Given the description of an element on the screen output the (x, y) to click on. 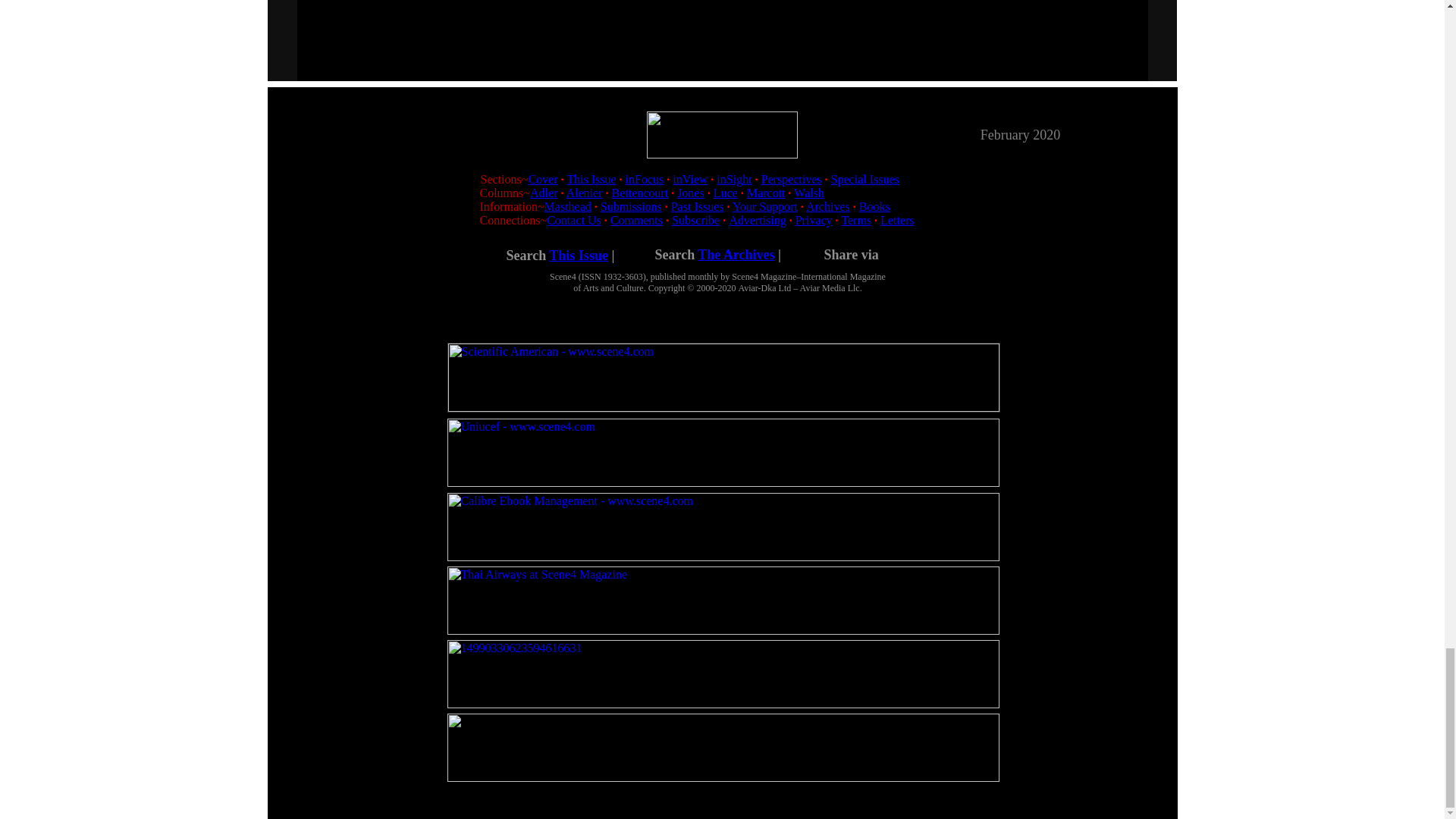
The Archives (735, 254)
Jones (690, 192)
Marcott (766, 192)
Archives (828, 205)
14990330623594616631 (722, 673)
Contact Us (574, 219)
inFocus (644, 178)
This Issue (578, 255)
Masthead (567, 205)
Your Support (764, 205)
